Given the description of an element on the screen output the (x, y) to click on. 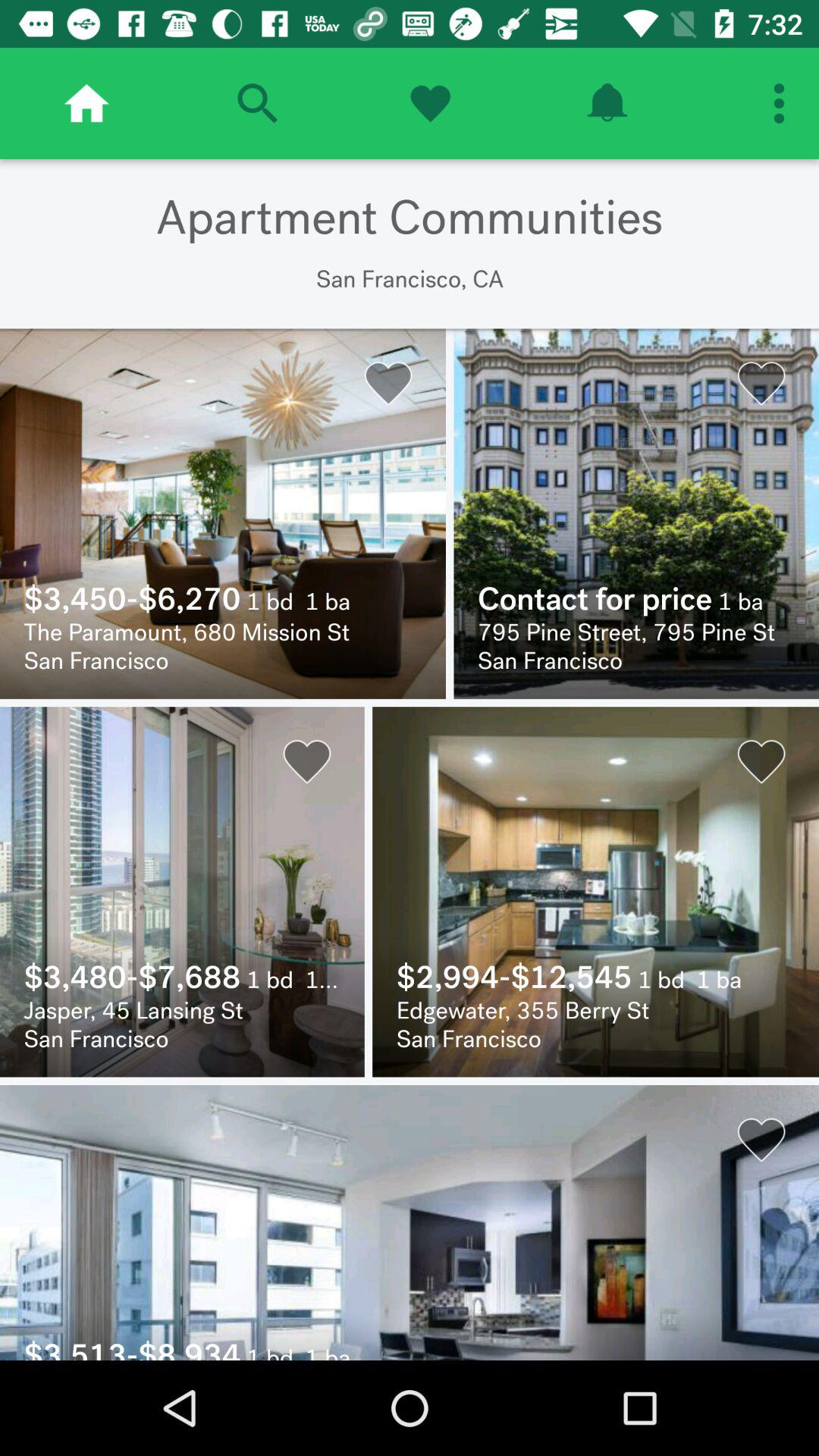
go to icon (606, 103)
